Given the description of an element on the screen output the (x, y) to click on. 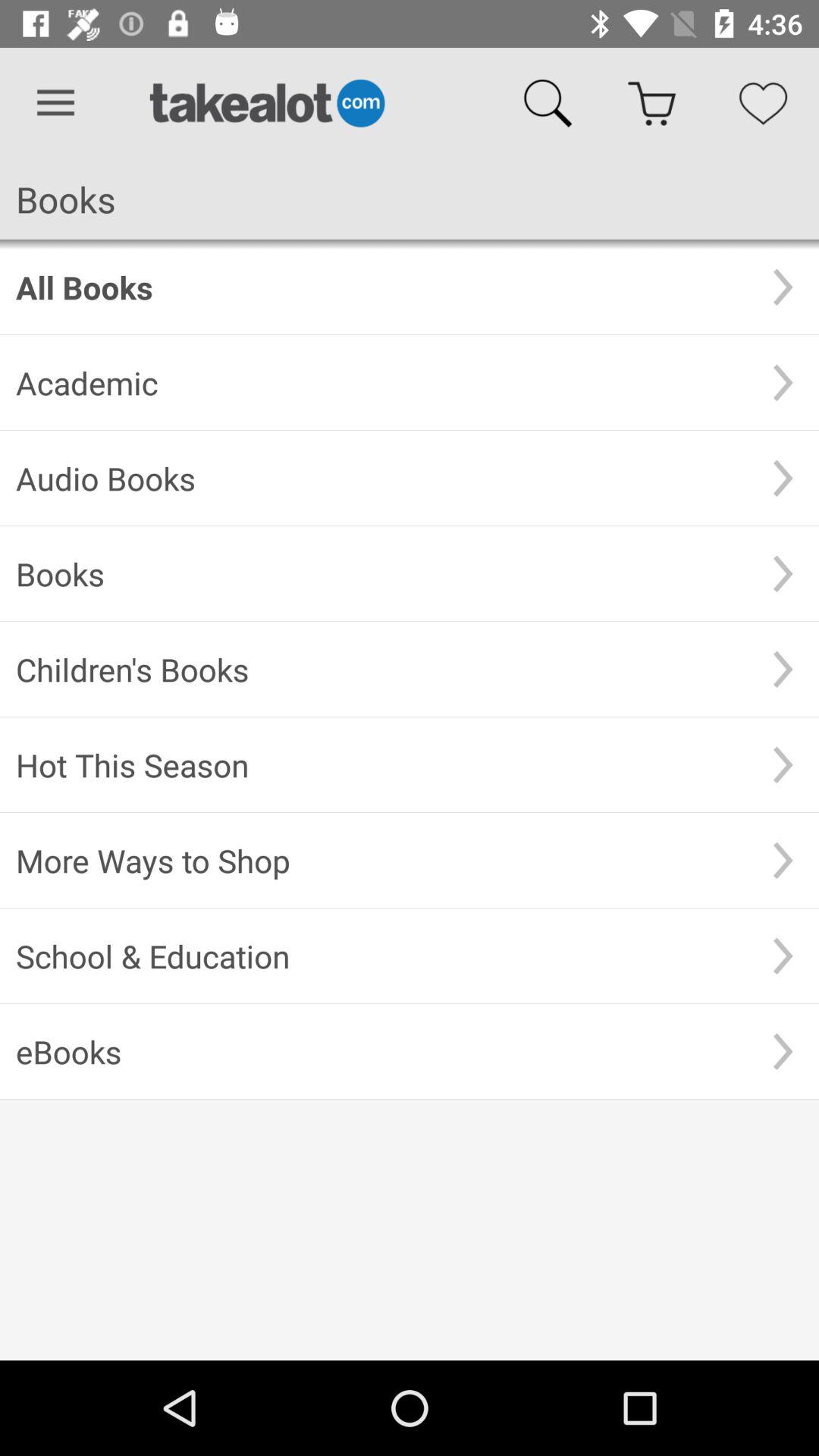
scroll to the school & education item (381, 955)
